Given the description of an element on the screen output the (x, y) to click on. 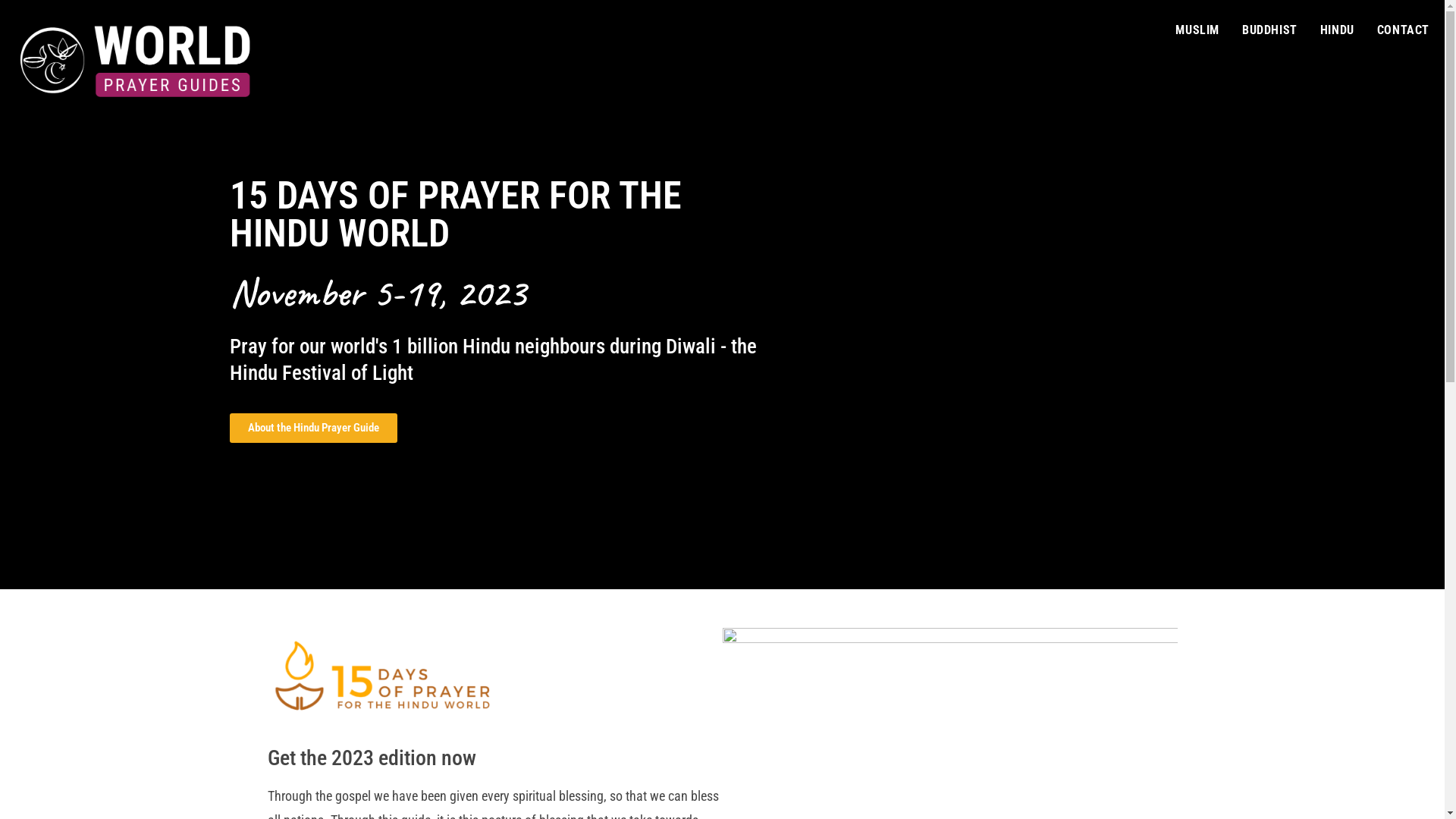
MUSLIM Element type: text (1197, 30)
CONTACT Element type: text (1402, 30)
BUDDHIST Element type: text (1269, 30)
HINDU Element type: text (1336, 30)
About the Hindu Prayer Guide Element type: text (312, 427)
